Given the description of an element on the screen output the (x, y) to click on. 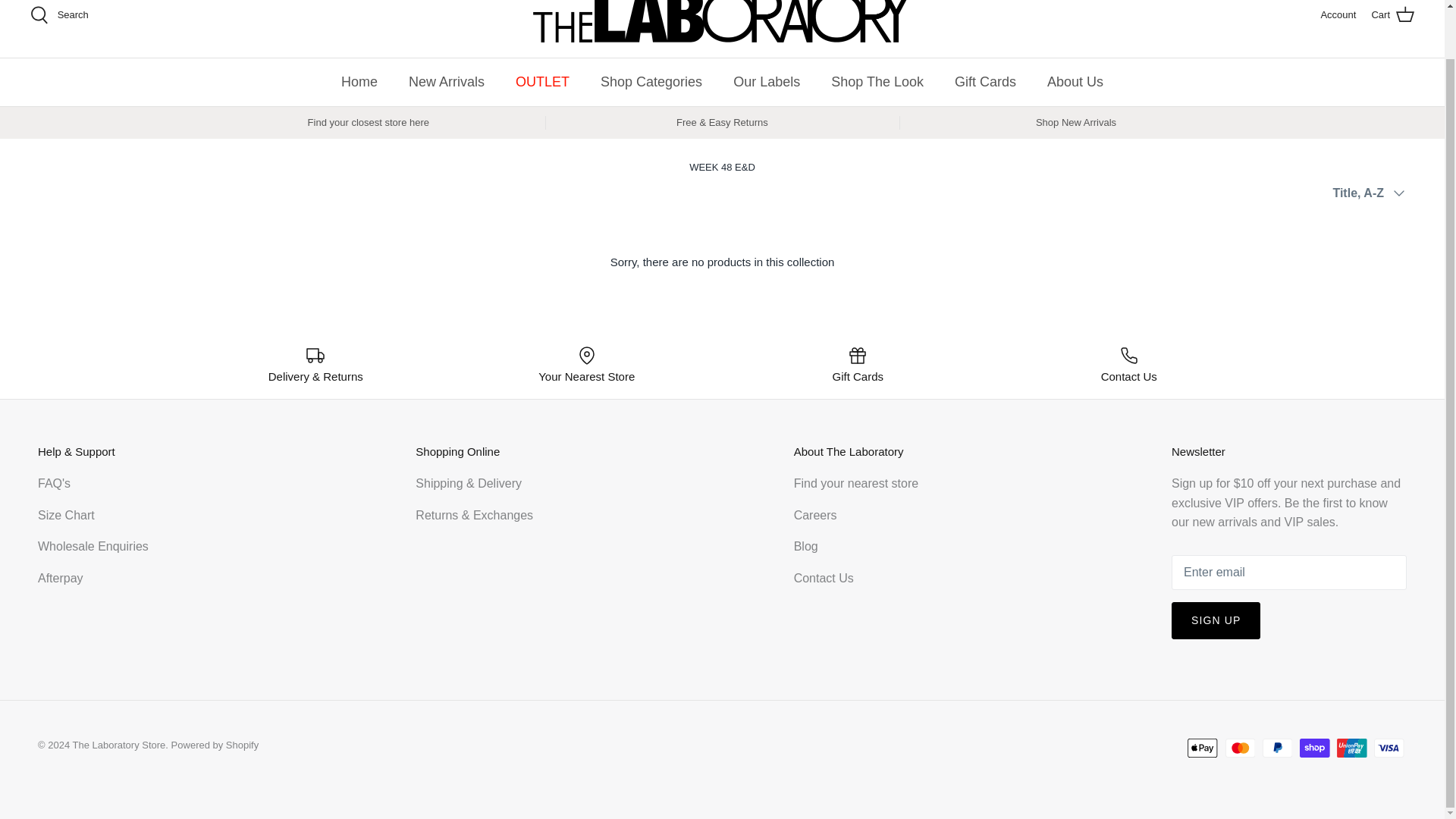
Careers (815, 514)
Account (1337, 15)
Home (359, 82)
Search (59, 14)
Our Labels (766, 82)
Mastercard (1240, 747)
Shop Categories (651, 82)
Apple Pay (1202, 747)
Afterpay (59, 577)
New Arrivals (445, 82)
Union Pay (1351, 747)
Contact Us (823, 577)
Meet The Staff (805, 545)
Sizing Chart (65, 514)
Find A Store (852, 482)
